Given the description of an element on the screen output the (x, y) to click on. 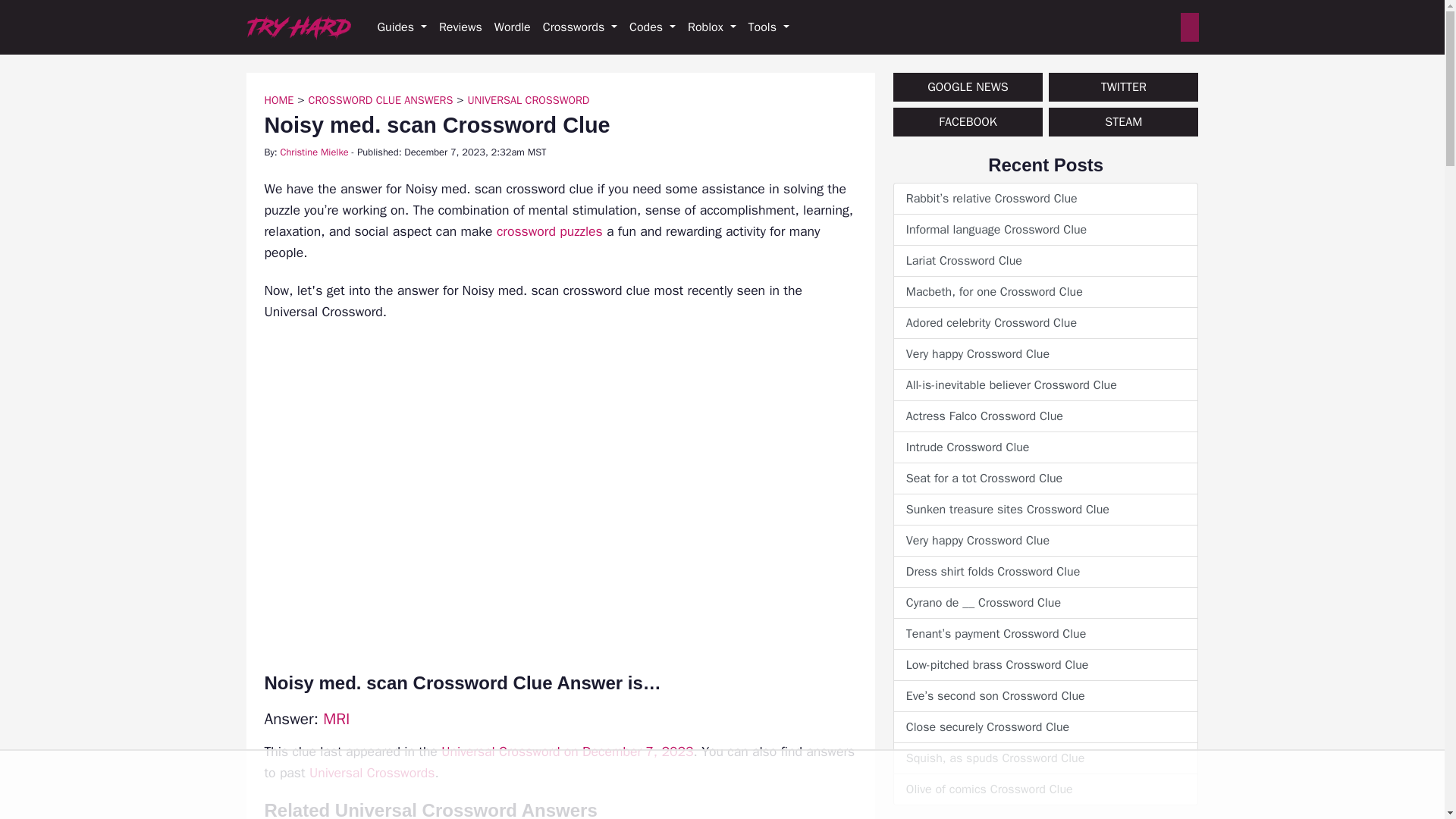
Codes (652, 27)
Try Hard Guides (298, 27)
Reviews (459, 27)
Crosswords (580, 27)
Wordle (512, 27)
Guides (401, 27)
Roblox (711, 27)
